Given the description of an element on the screen output the (x, y) to click on. 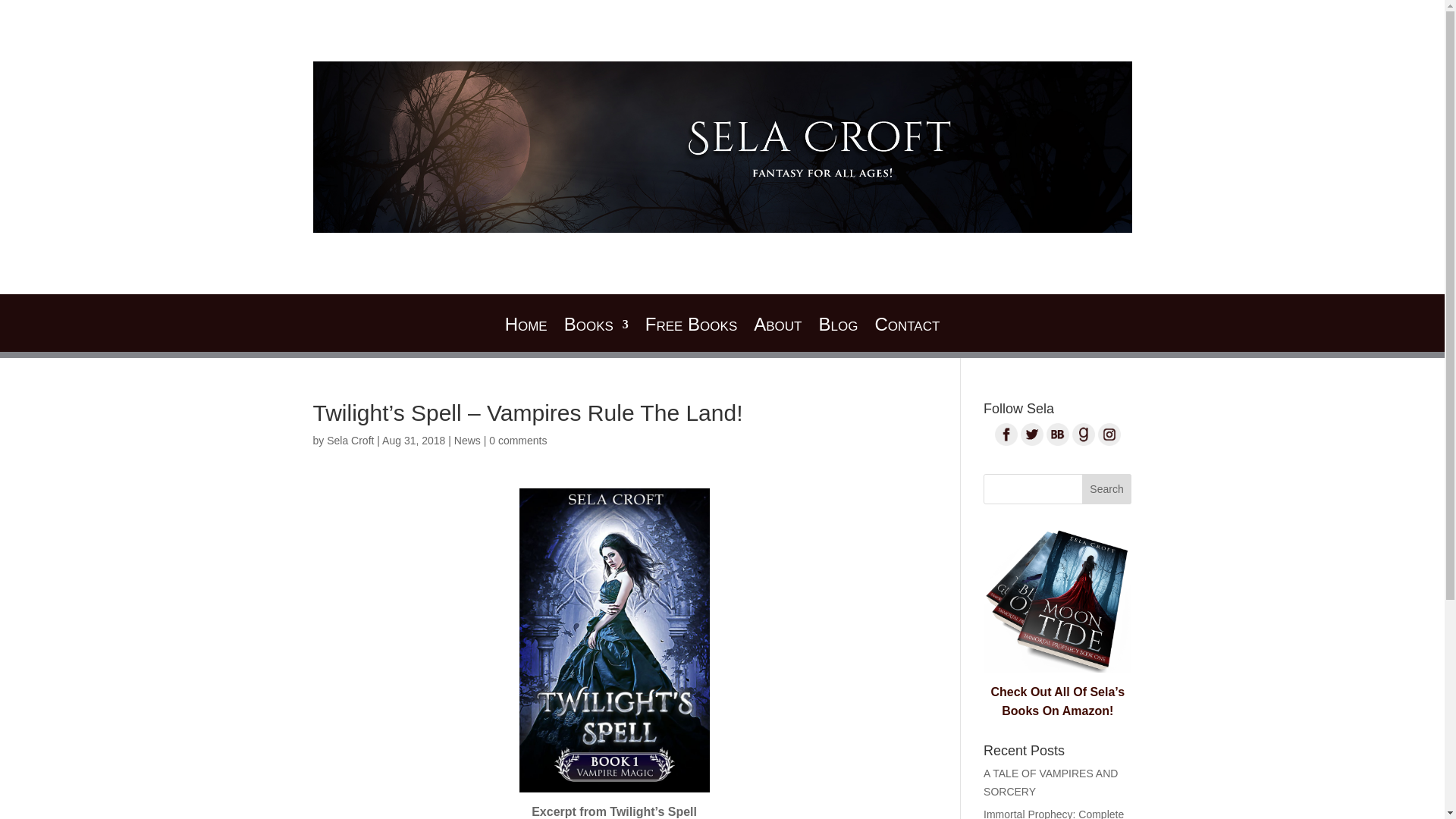
Books (596, 335)
Blog (837, 335)
Search (1106, 489)
Home (526, 335)
Contact (907, 335)
Free Books (690, 335)
Posts by Sela Croft (350, 440)
About (778, 335)
